Given the description of an element on the screen output the (x, y) to click on. 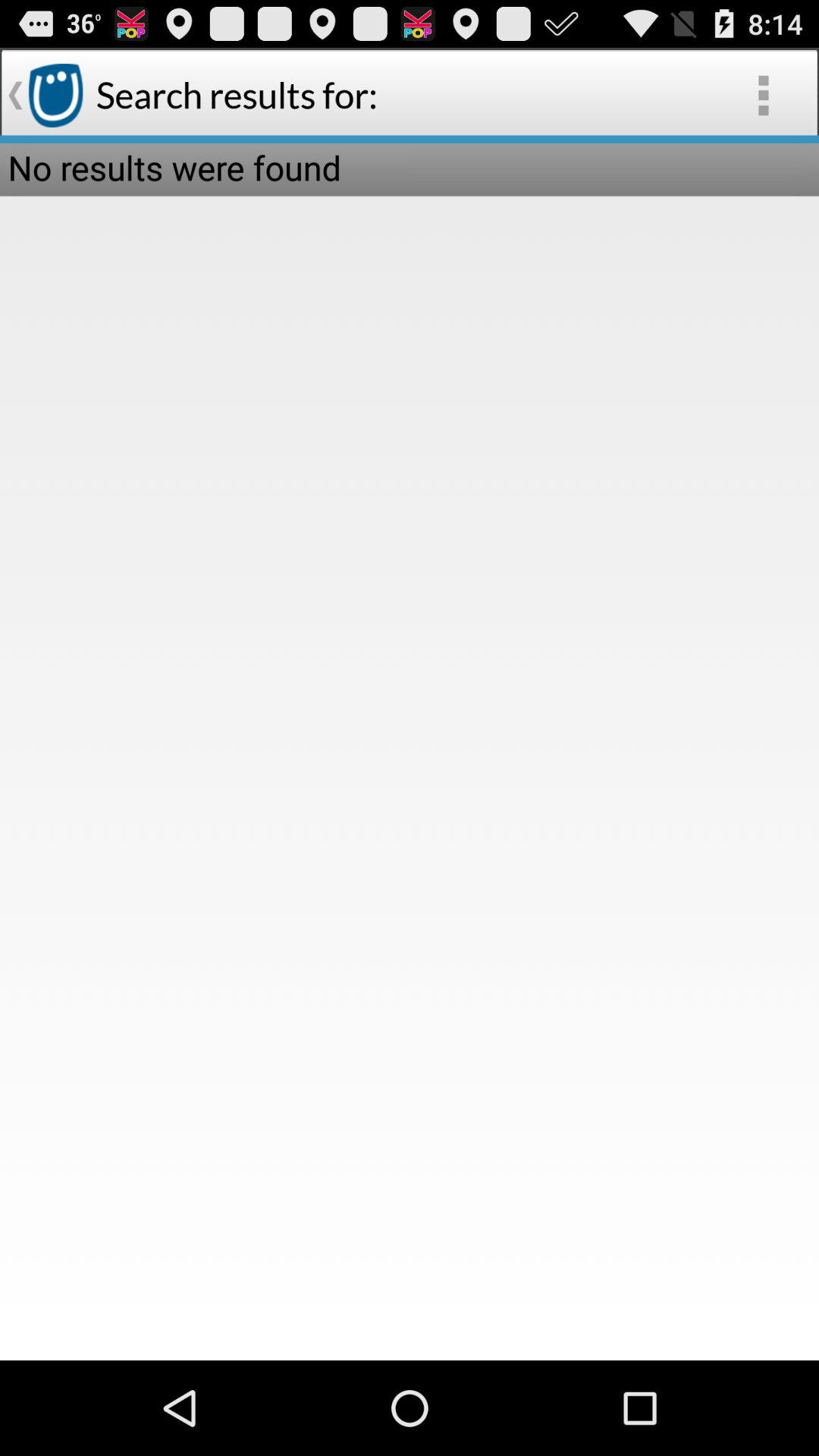
choose item above the no results were item (763, 95)
